Given the description of an element on the screen output the (x, y) to click on. 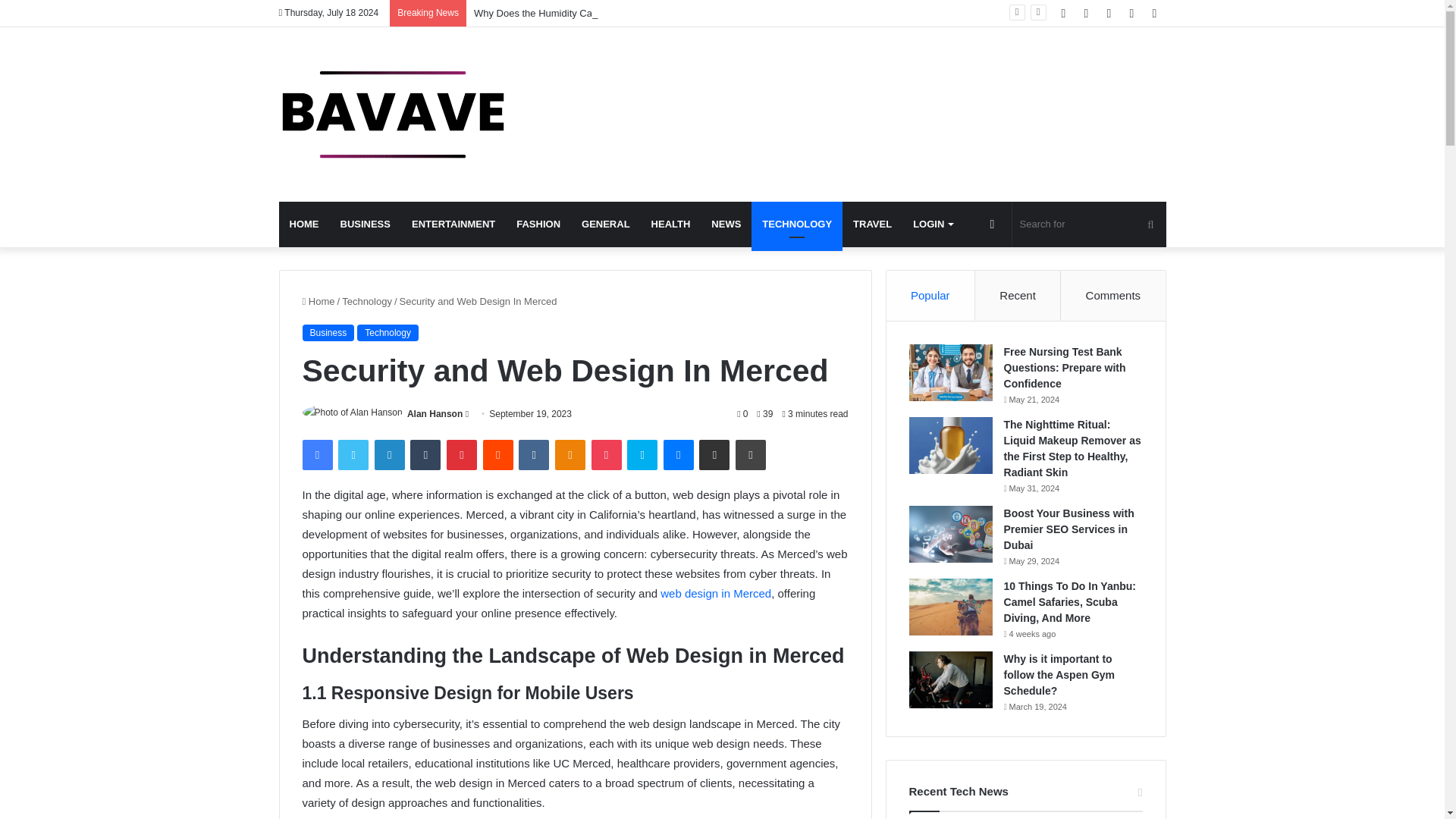
Technology (366, 301)
Technology (387, 332)
Odnoklassniki (569, 454)
TRAVEL (872, 224)
Search for (1150, 224)
VKontakte (533, 454)
Bavave (392, 114)
Alan Hanson (435, 413)
ENTERTAINMENT (453, 224)
LOGIN (932, 224)
NEWS (725, 224)
Reddit (498, 454)
Twitter (352, 454)
Business (327, 332)
